Given the description of an element on the screen output the (x, y) to click on. 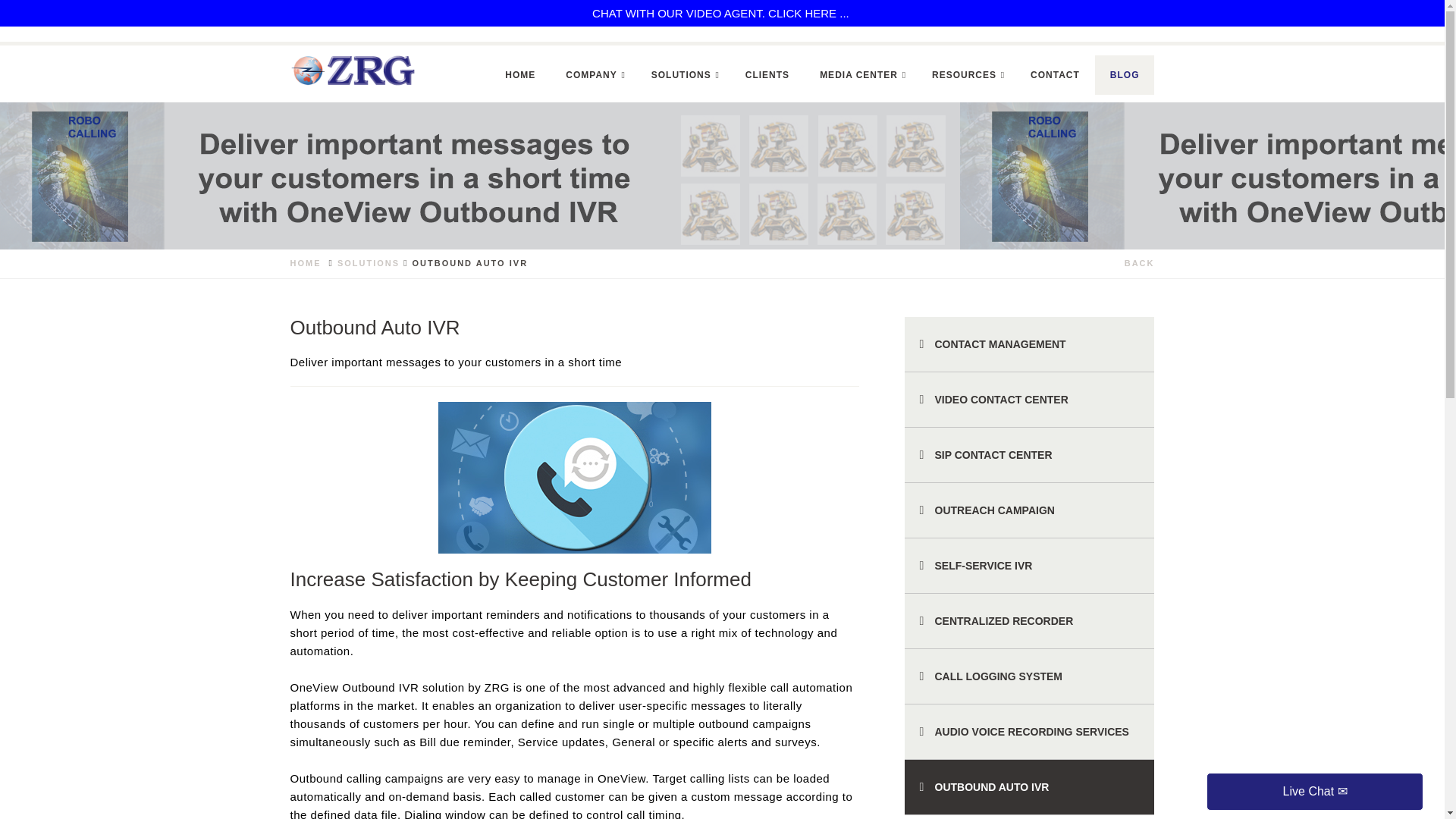
Solutions (683, 75)
HOME (304, 262)
SOLUTIONS (367, 262)
BLOG (1124, 75)
AUDIO VOICE RECORDING SERVICES (1029, 732)
CLIENTS (767, 75)
CHAT WITH OUR VIDEO AGENT. CLICK HERE ...  (722, 13)
VIDEO CONTACT CENTER (1029, 399)
CENTRALIZED RECORDER (1029, 621)
SIP CONTACT CENTER (1029, 455)
